Given the description of an element on the screen output the (x, y) to click on. 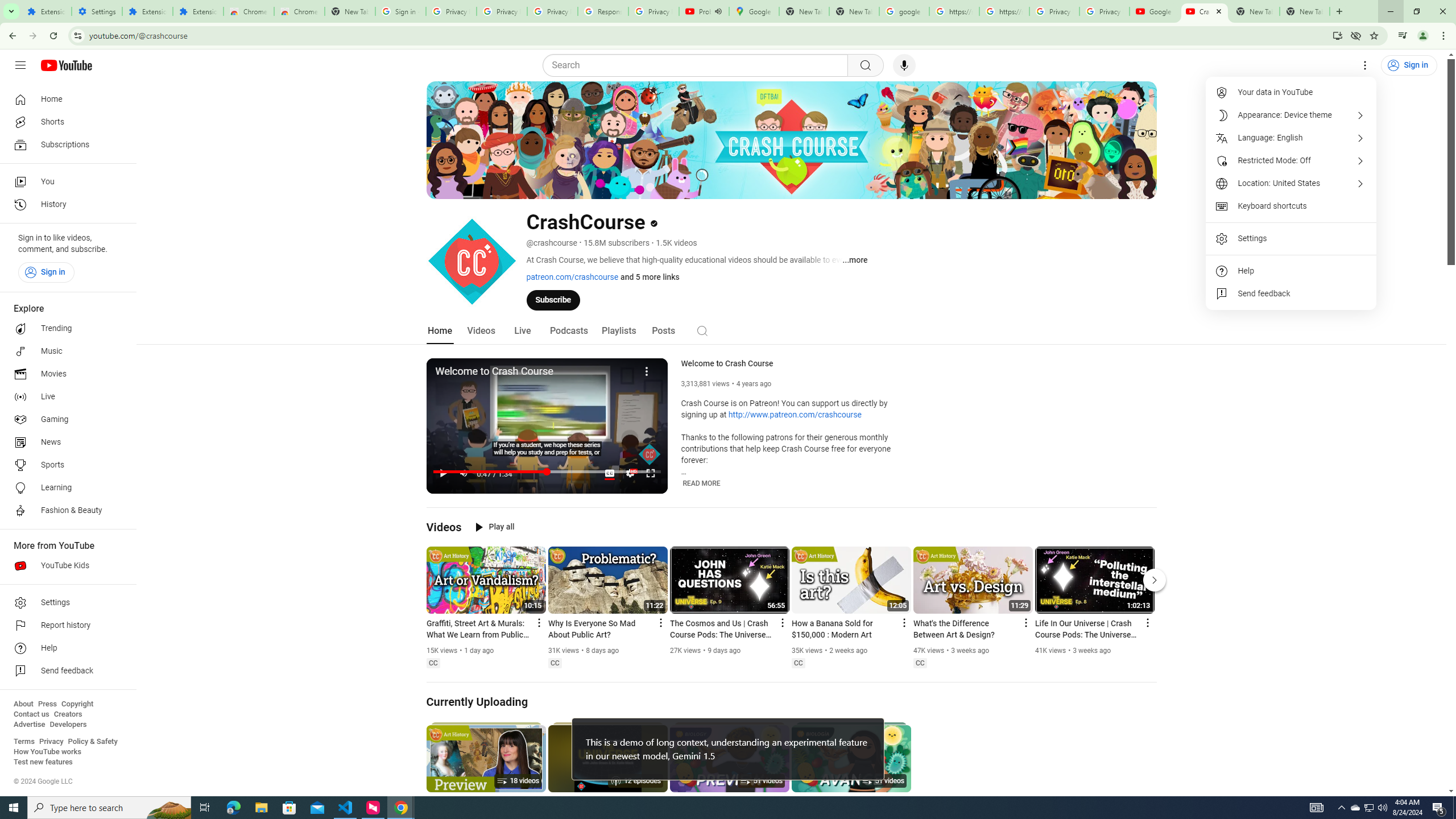
Advertise (29, 724)
https://scholar.google.com/ (954, 11)
Videos (443, 526)
Press (46, 703)
Restricted Mode: Off (1291, 160)
Channel watermark (649, 454)
Location: United States (1291, 182)
New Tab (1304, 11)
and 5 more links (649, 276)
patreon.com/crashcourse (571, 276)
Currently Uploading (477, 701)
